Given the description of an element on the screen output the (x, y) to click on. 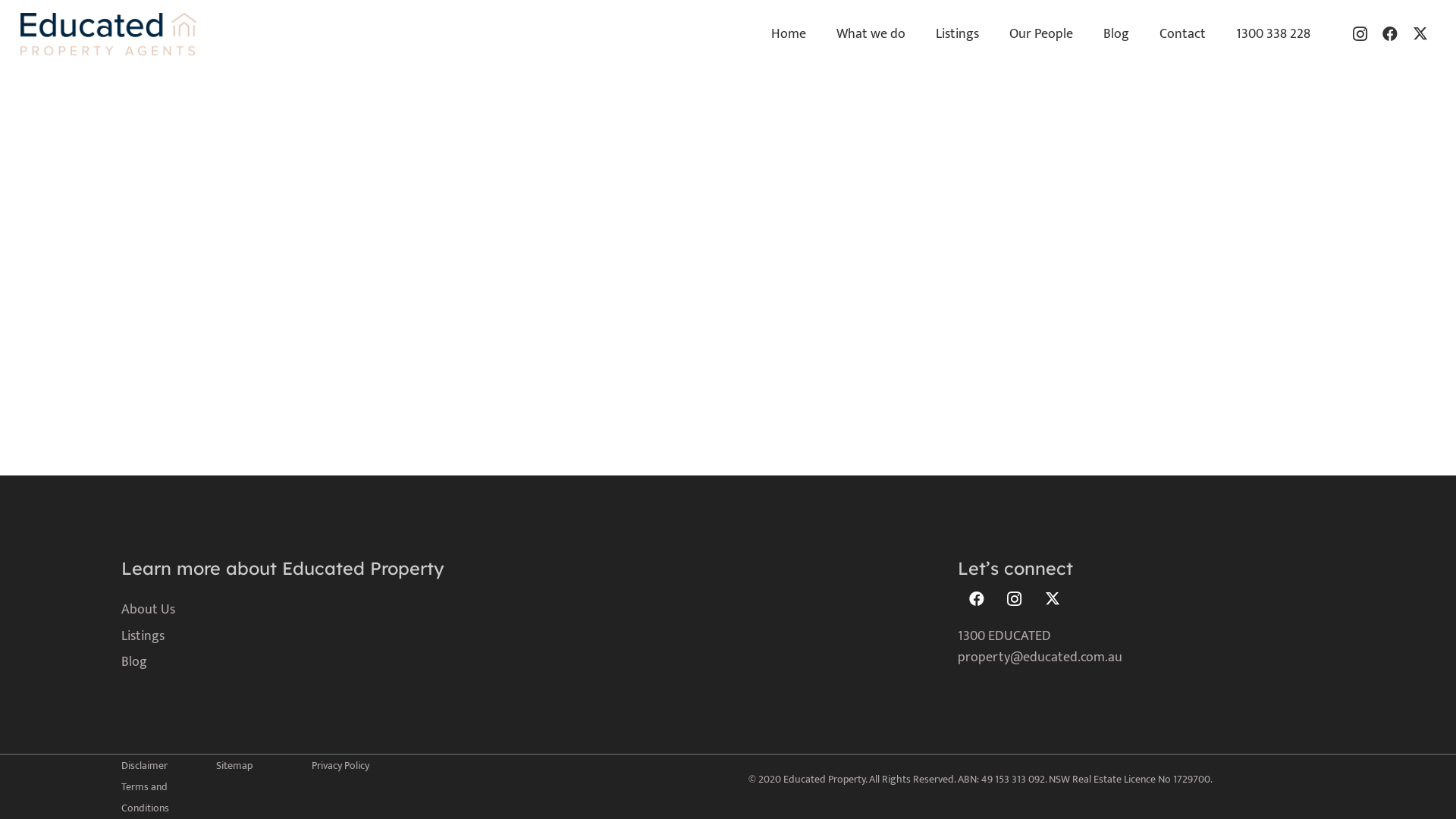
Privacy Policy Element type: text (339, 765)
property@educated.com.au Element type: text (1039, 657)
What we do Element type: text (870, 34)
Our People Element type: text (1041, 34)
Facebook Element type: hover (976, 599)
Contact Element type: text (1182, 34)
Listings Element type: text (957, 34)
Instagram Element type: hover (1359, 33)
Home Element type: text (788, 34)
Instagram Element type: hover (1014, 599)
Listings Element type: text (142, 635)
Sitemap Element type: text (234, 765)
Terms and Conditions Element type: text (145, 797)
1300 EDUCATED Element type: text (1004, 635)
1300 338 228 Element type: text (1272, 34)
Twitter Element type: hover (1052, 599)
Blog Element type: text (134, 661)
Blog Element type: text (1116, 34)
Twitter Element type: hover (1420, 33)
Disclaimer Element type: text (144, 765)
About Us Element type: text (148, 609)
Facebook Element type: hover (1389, 33)
